Given the description of an element on the screen output the (x, y) to click on. 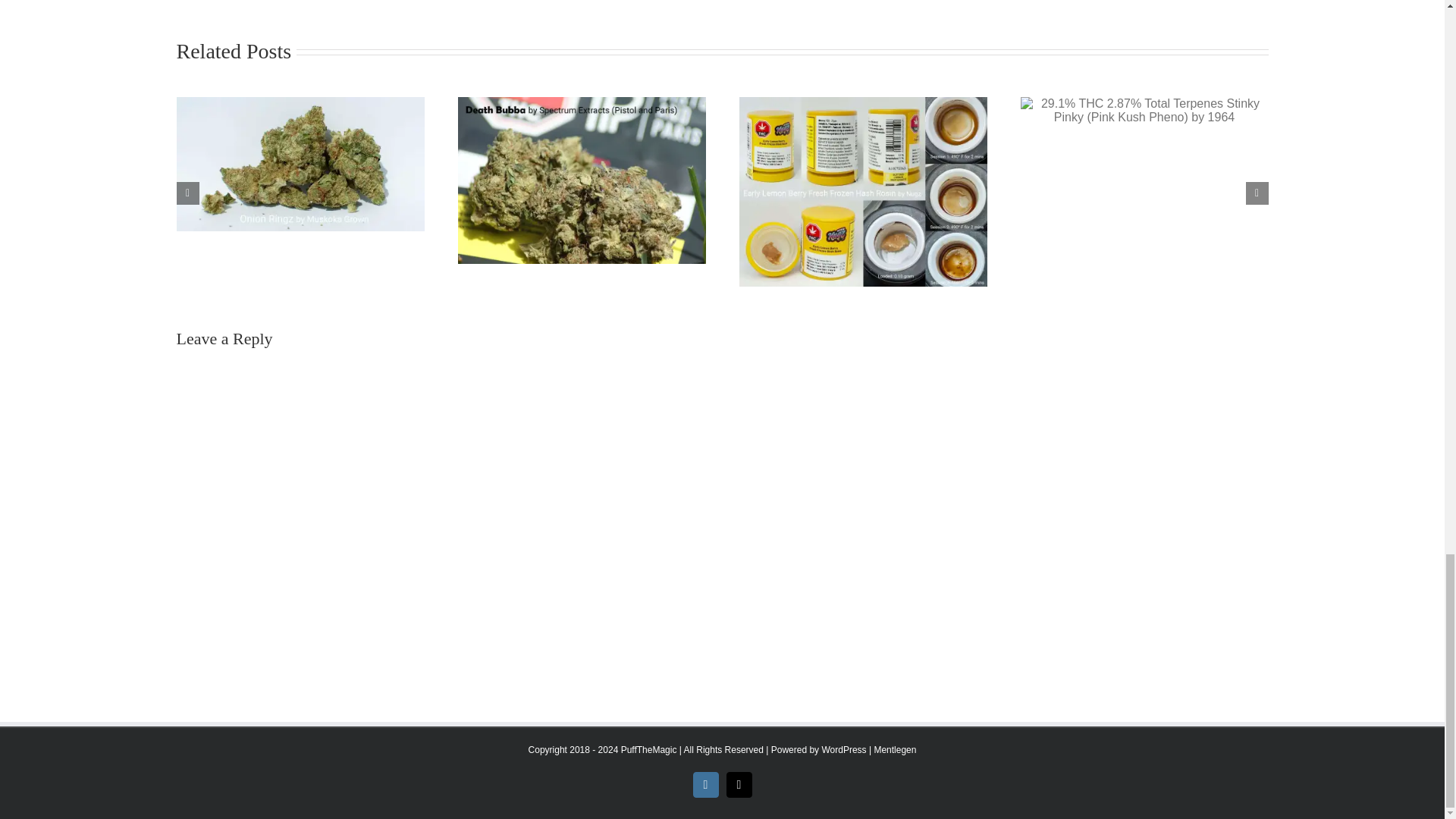
X (739, 784)
Instagram (706, 784)
